Given the description of an element on the screen output the (x, y) to click on. 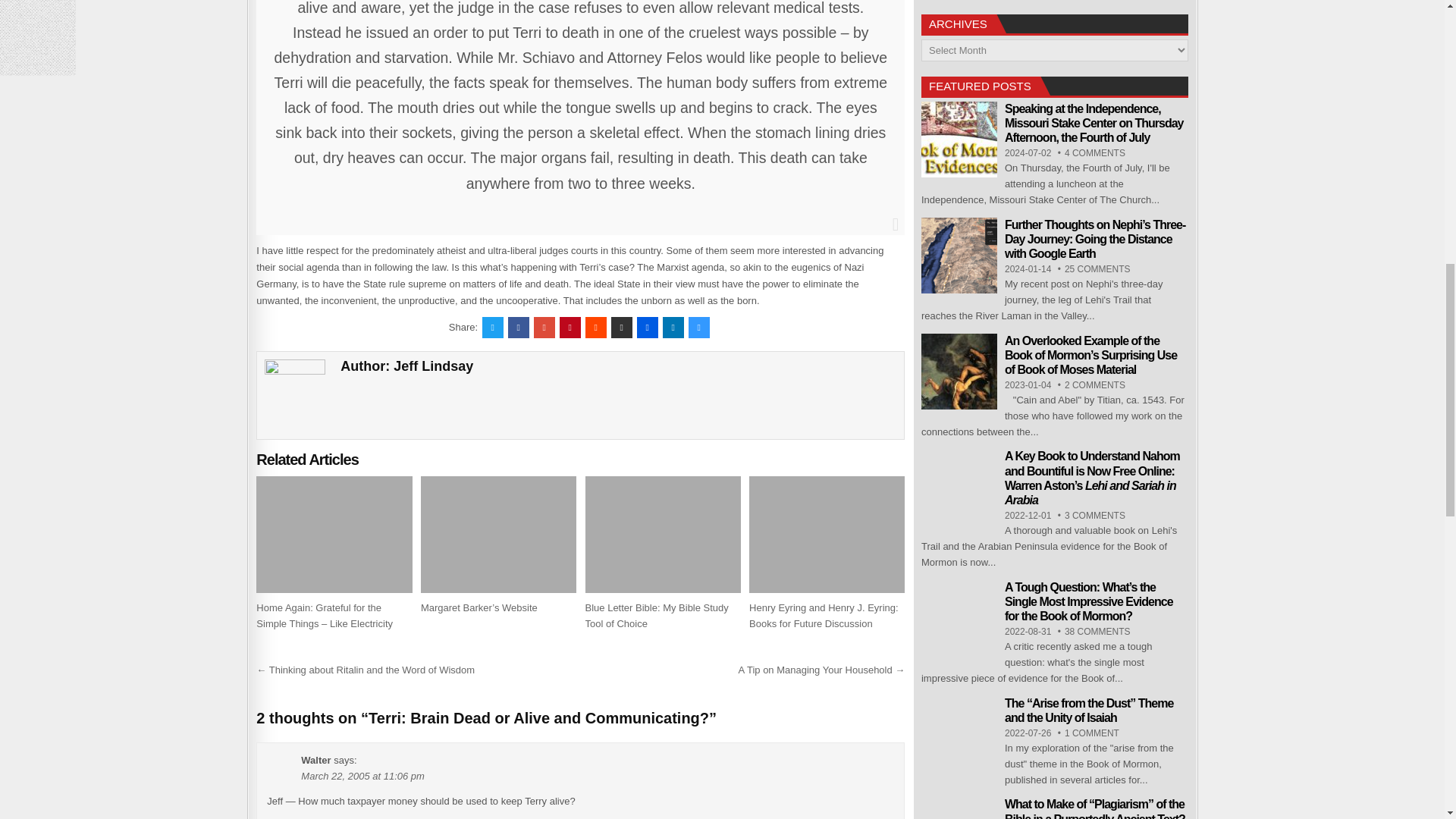
Blue Letter Bible: My Bible Study Tool of Choice (657, 615)
Share this on Delicious (699, 327)
Share this on Pinterest (569, 327)
Share this on Reddit (596, 327)
Share this on Facebook (518, 327)
March 22, 2005 at 11:06 pm (363, 776)
Share this on Linkedin (673, 327)
Share this on VK (621, 327)
Share this on Digg (647, 327)
